Given the description of an element on the screen output the (x, y) to click on. 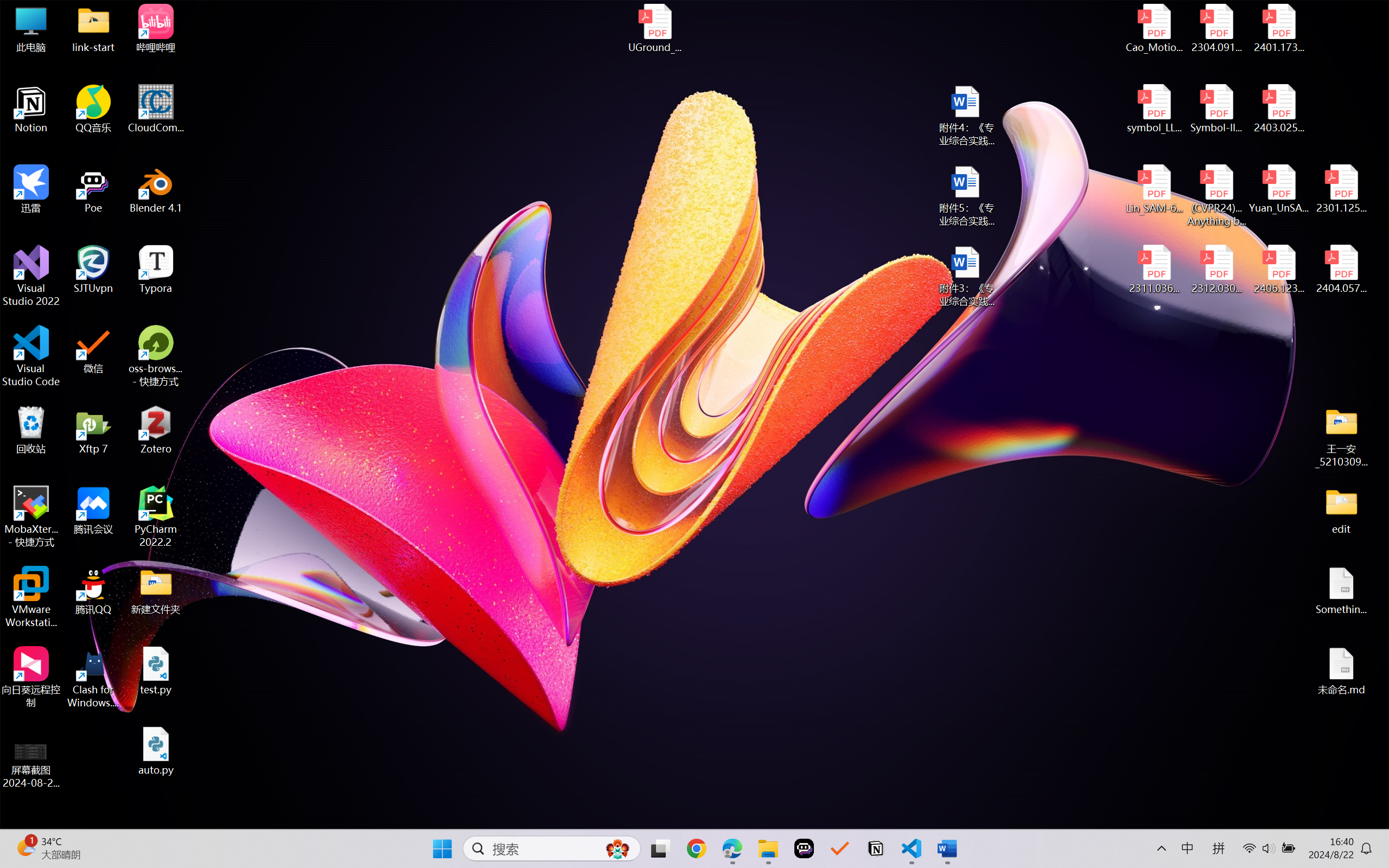
Something.md (1340, 591)
2312.03032v2.pdf (1216, 269)
Symbol-llm-v2.pdf (1216, 109)
Blender 4.1 (156, 189)
UGround_paper.pdf (654, 28)
edit (1340, 510)
Typora (156, 269)
2403.02502v1.pdf (1278, 109)
